Given the description of an element on the screen output the (x, y) to click on. 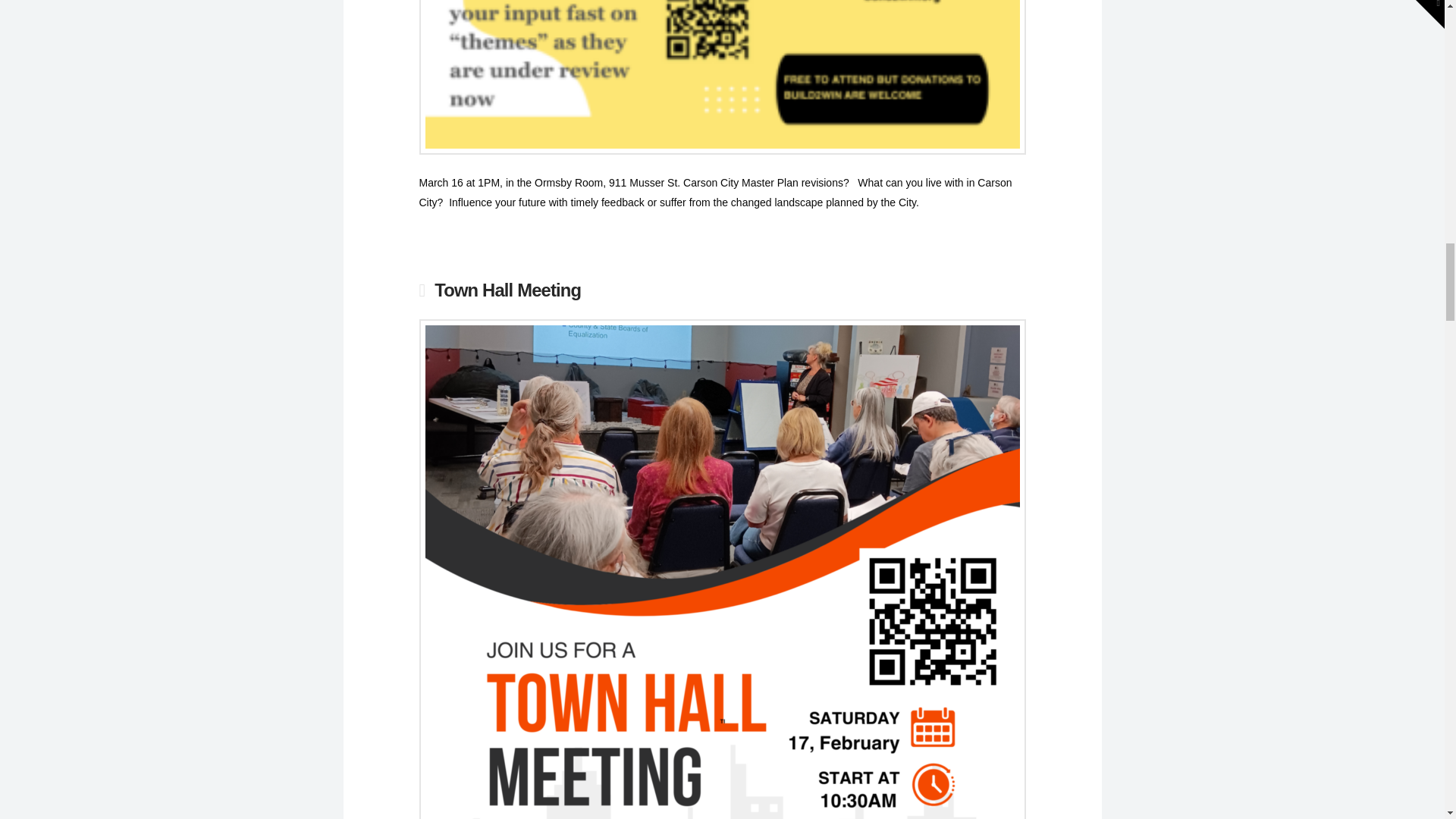
Town Hall Meeting (506, 290)
Permalink to: "Town Hall Meeting" (506, 290)
Permalink to: "Carson City Master Plan Discussion" (722, 74)
